Given the description of an element on the screen output the (x, y) to click on. 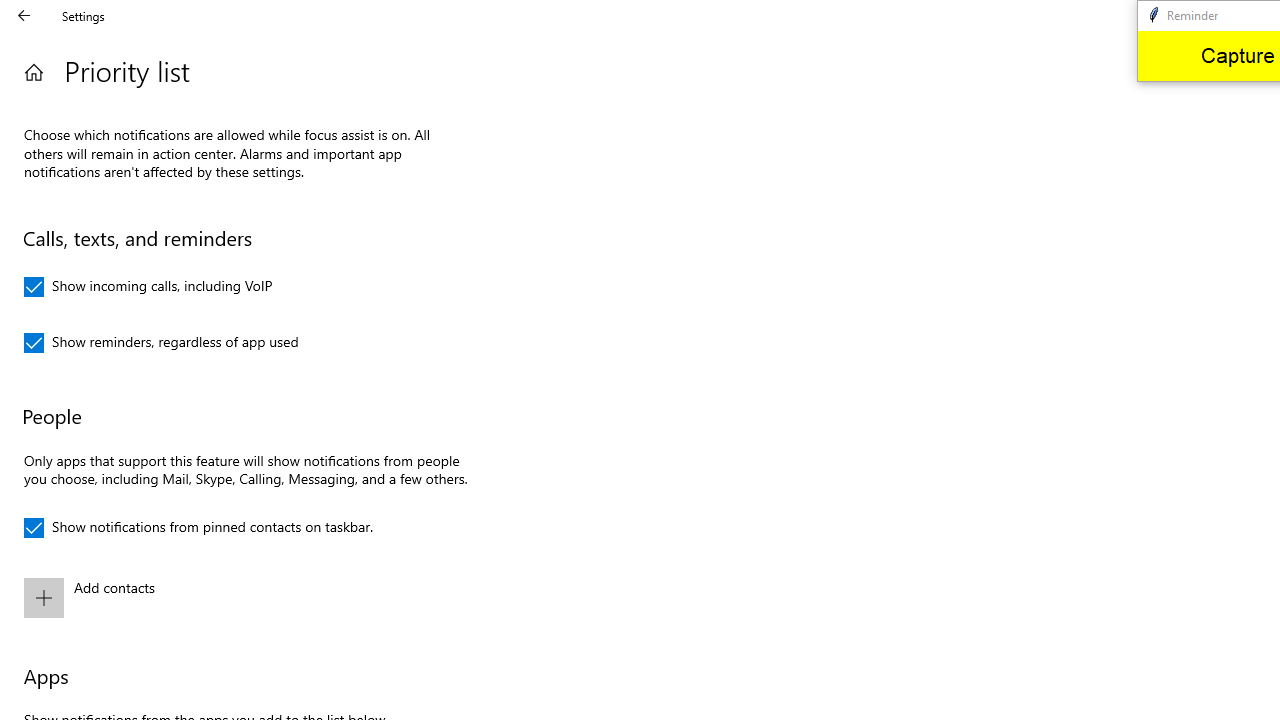
Home (33, 71)
Show incoming calls, including VoIP (148, 286)
Add contacts (243, 597)
Show notifications from pinned contacts on taskbar. (198, 527)
Show reminders, regardless of app used (161, 342)
